Given the description of an element on the screen output the (x, y) to click on. 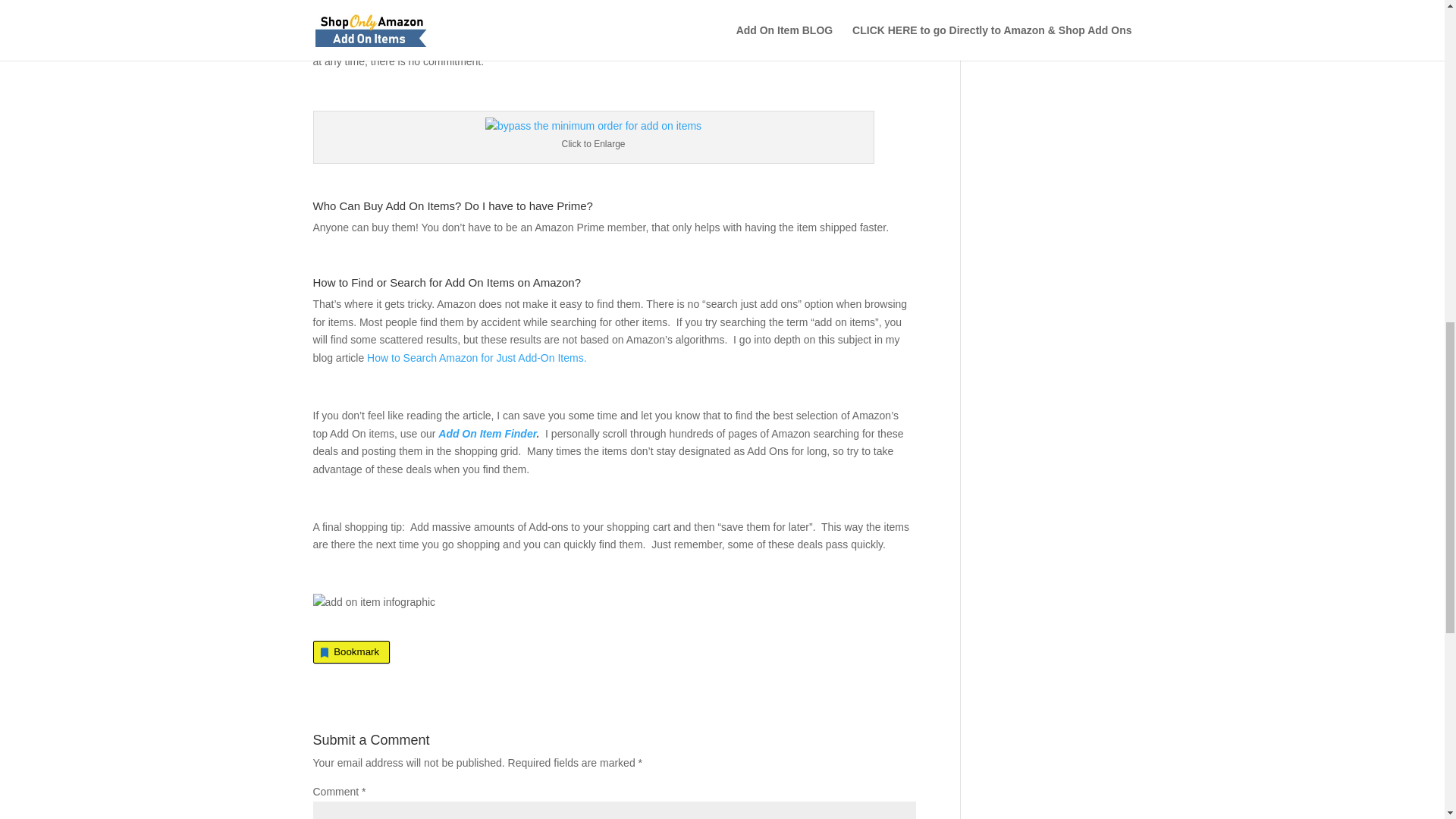
Add On Item Finder (486, 433)
add on item infographic (374, 602)
Bookmark (351, 651)
How to Search Amazon for Just Add-On Items. (476, 357)
